Given the description of an element on the screen output the (x, y) to click on. 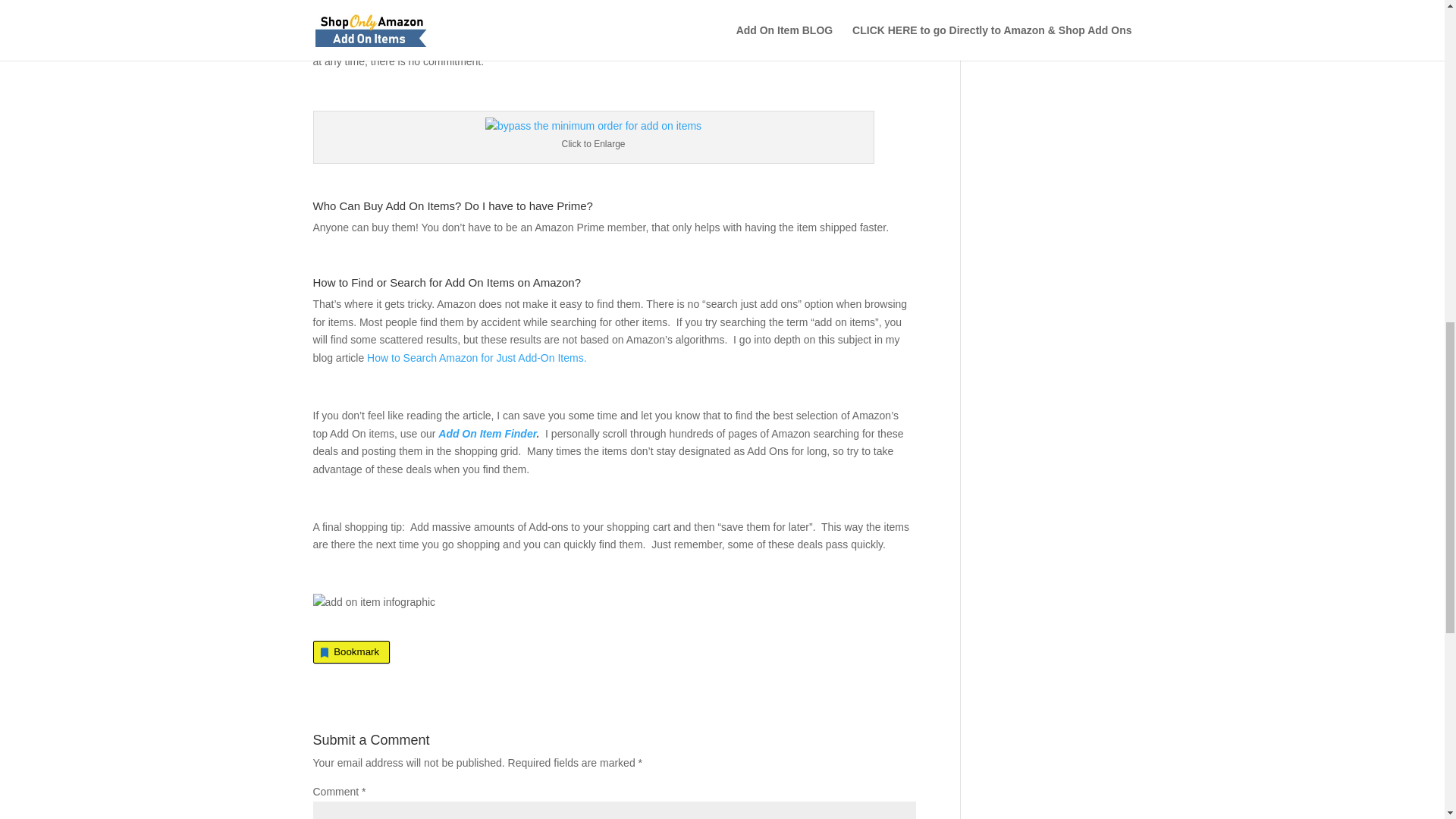
Add On Item Finder (486, 433)
add on item infographic (374, 602)
Bookmark (351, 651)
How to Search Amazon for Just Add-On Items. (476, 357)
